Given the description of an element on the screen output the (x, y) to click on. 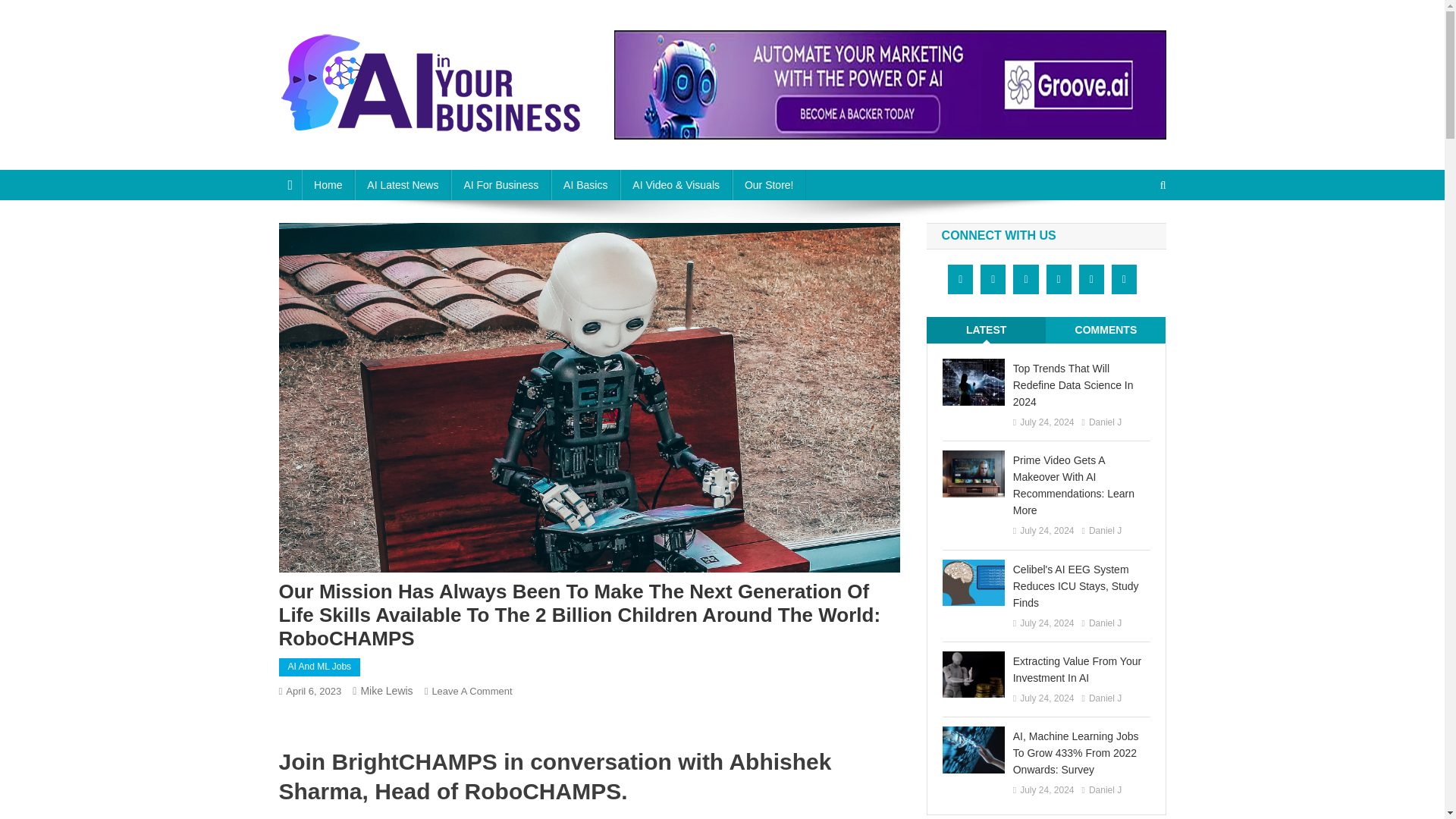
AI And ML Jobs (320, 667)
Home (327, 184)
April 6, 2023 (312, 690)
AI Basics (585, 184)
Mike Lewis (385, 690)
AI Latest News (402, 184)
Our Store! (769, 184)
Search (1133, 235)
AI For Business (500, 184)
